Given the description of an element on the screen output the (x, y) to click on. 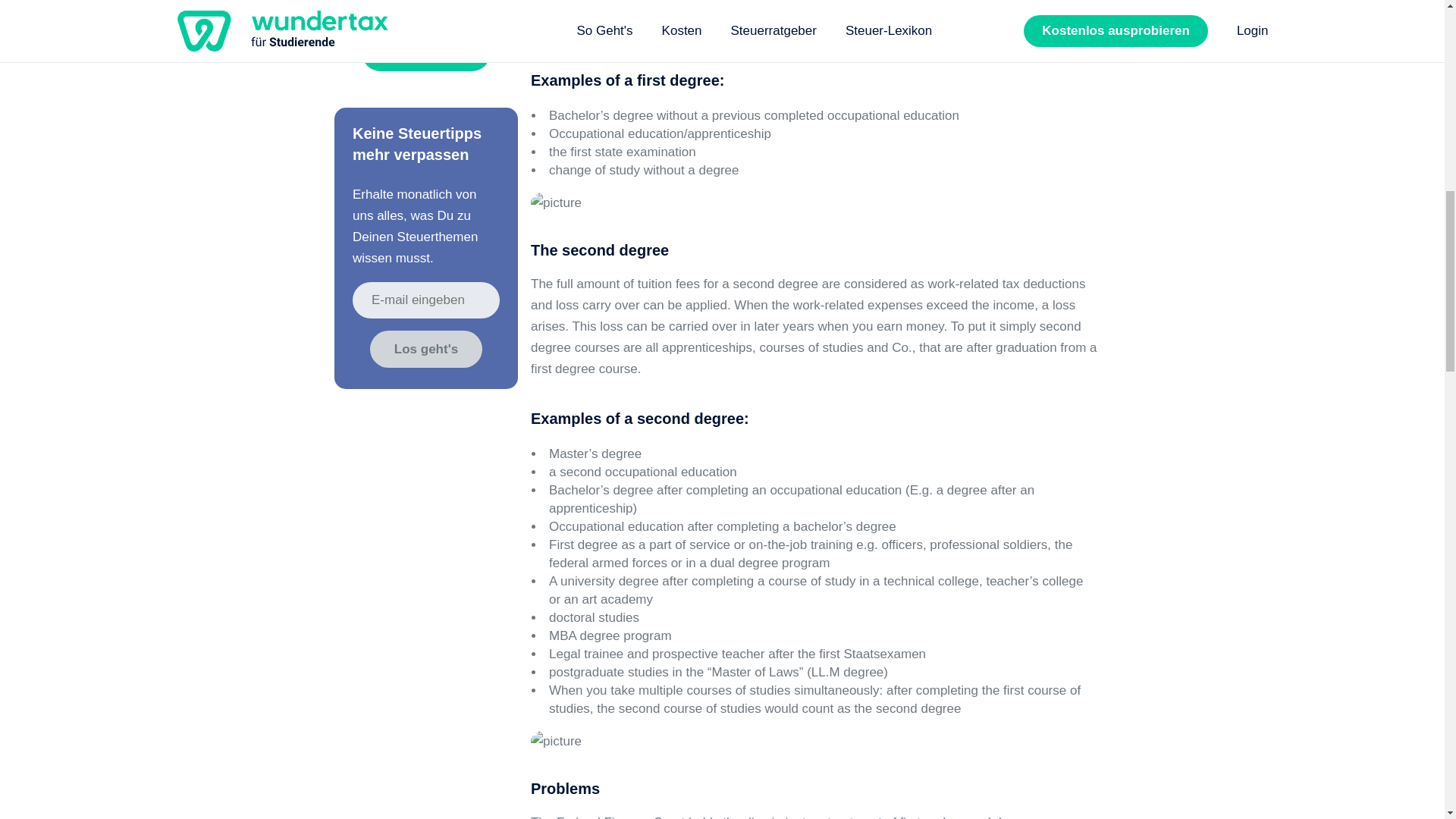
Los geht's (425, 349)
picture (555, 741)
picture (555, 202)
Jetzt starten! (425, 52)
Los geht's (425, 349)
